Given the description of an element on the screen output the (x, y) to click on. 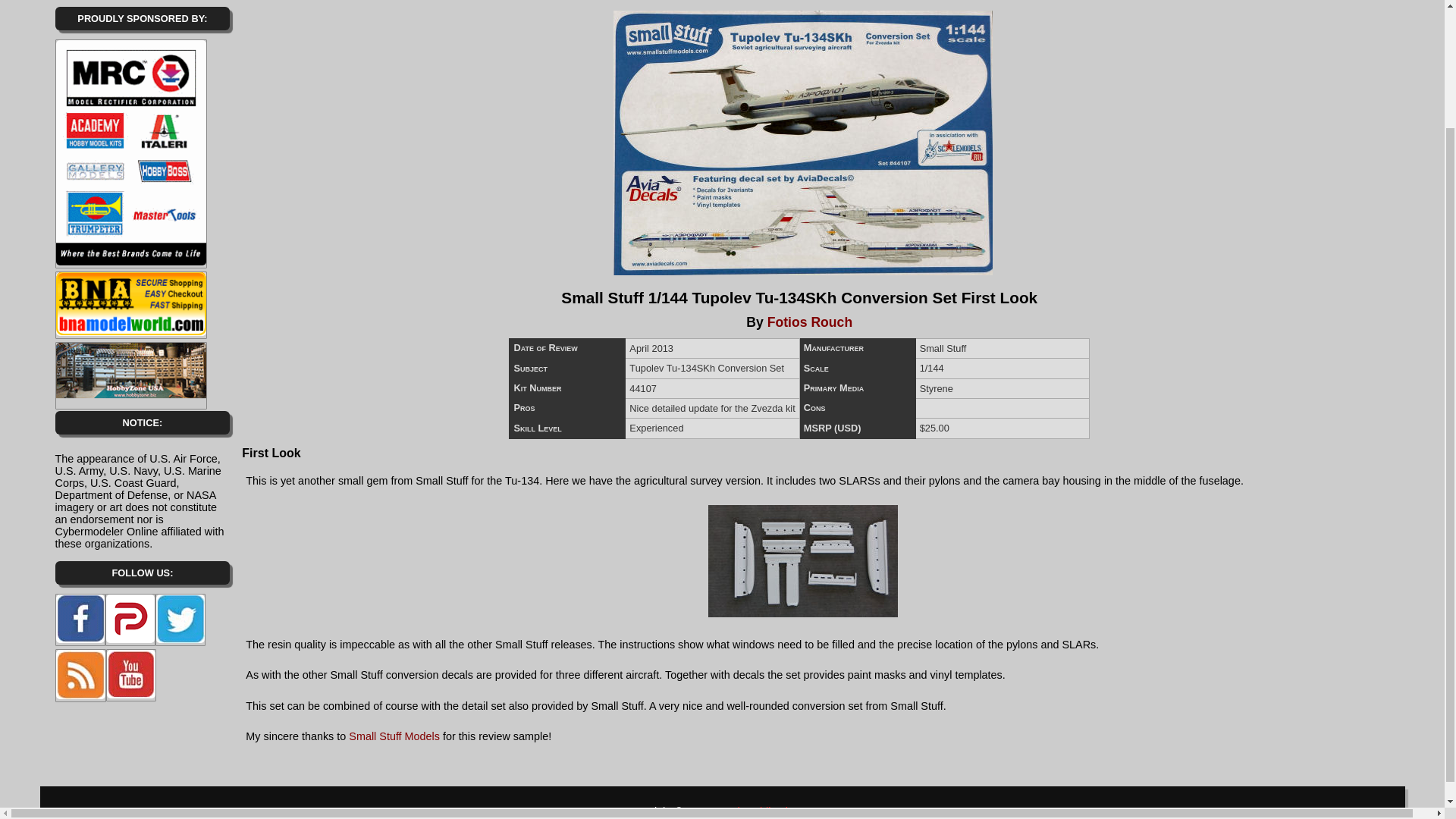
TacAir Publications, LLC. (773, 811)
Small Stuff Models (394, 736)
Fotios Rouch (809, 322)
